Given the description of an element on the screen output the (x, y) to click on. 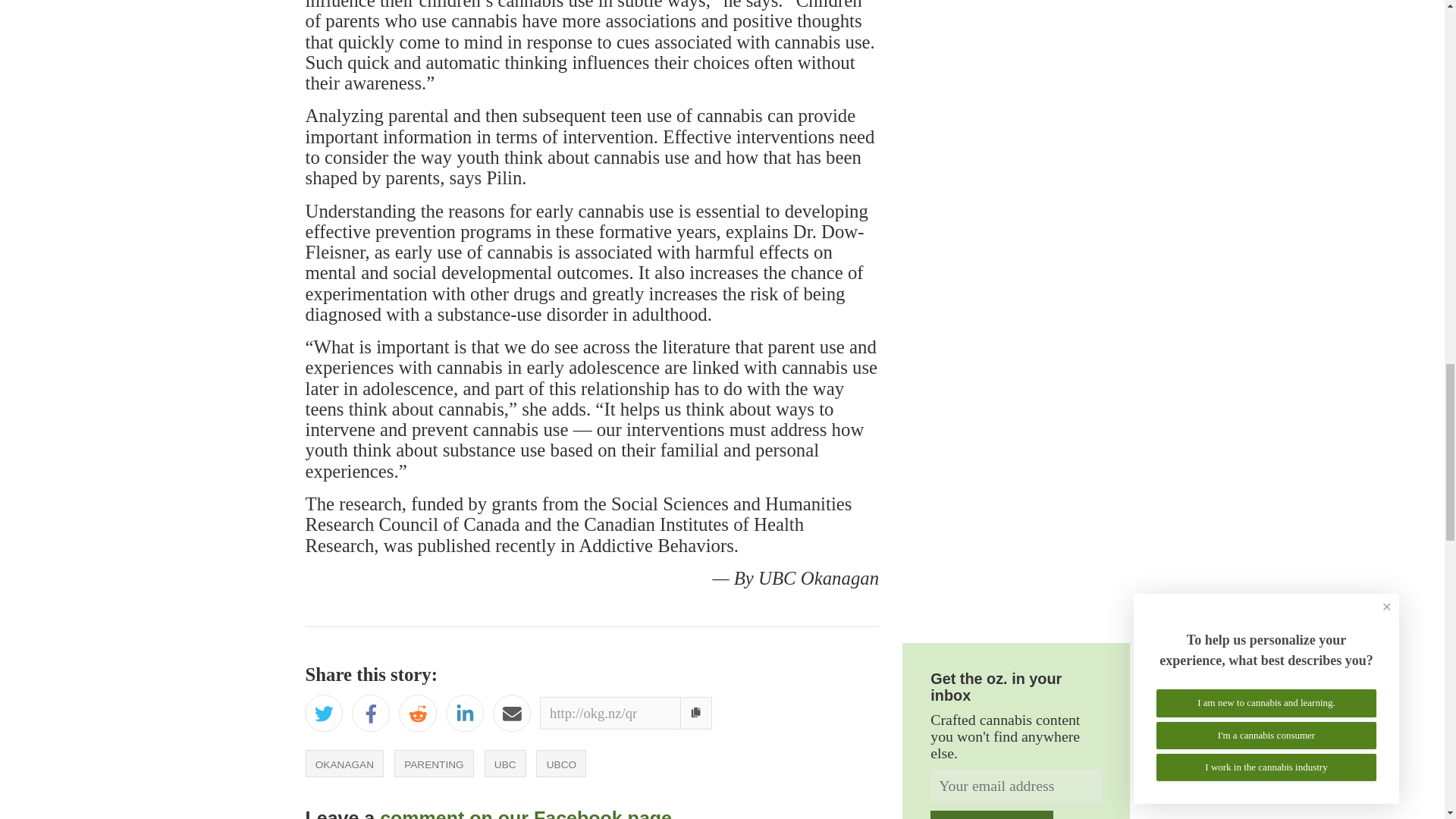
UBCO (560, 763)
OKANAGAN (344, 763)
UBC (504, 763)
Subscribe (991, 814)
Share this story on Facebook (371, 715)
Subscribe (991, 814)
comment on our Facebook page (525, 813)
Submit to Reddit (417, 715)
Share this story on Twitter (323, 715)
Email this story (512, 715)
Share this story on LinkedIn (464, 715)
PARENTING (434, 763)
